Given the description of an element on the screen output the (x, y) to click on. 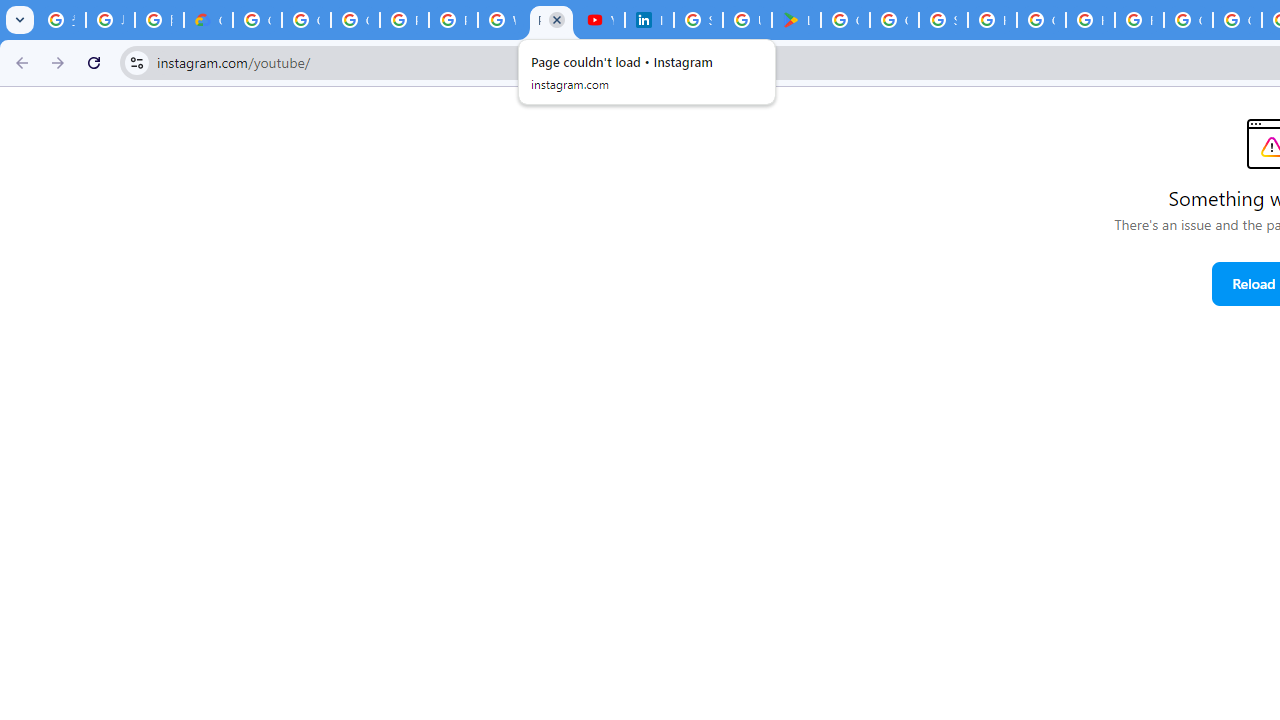
Sign in - Google Accounts (698, 20)
Google Workspace - Specific Terms (894, 20)
YouTube Culture & Trends - On The Rise: Handcam Videos (600, 20)
